Given the description of an element on the screen output the (x, y) to click on. 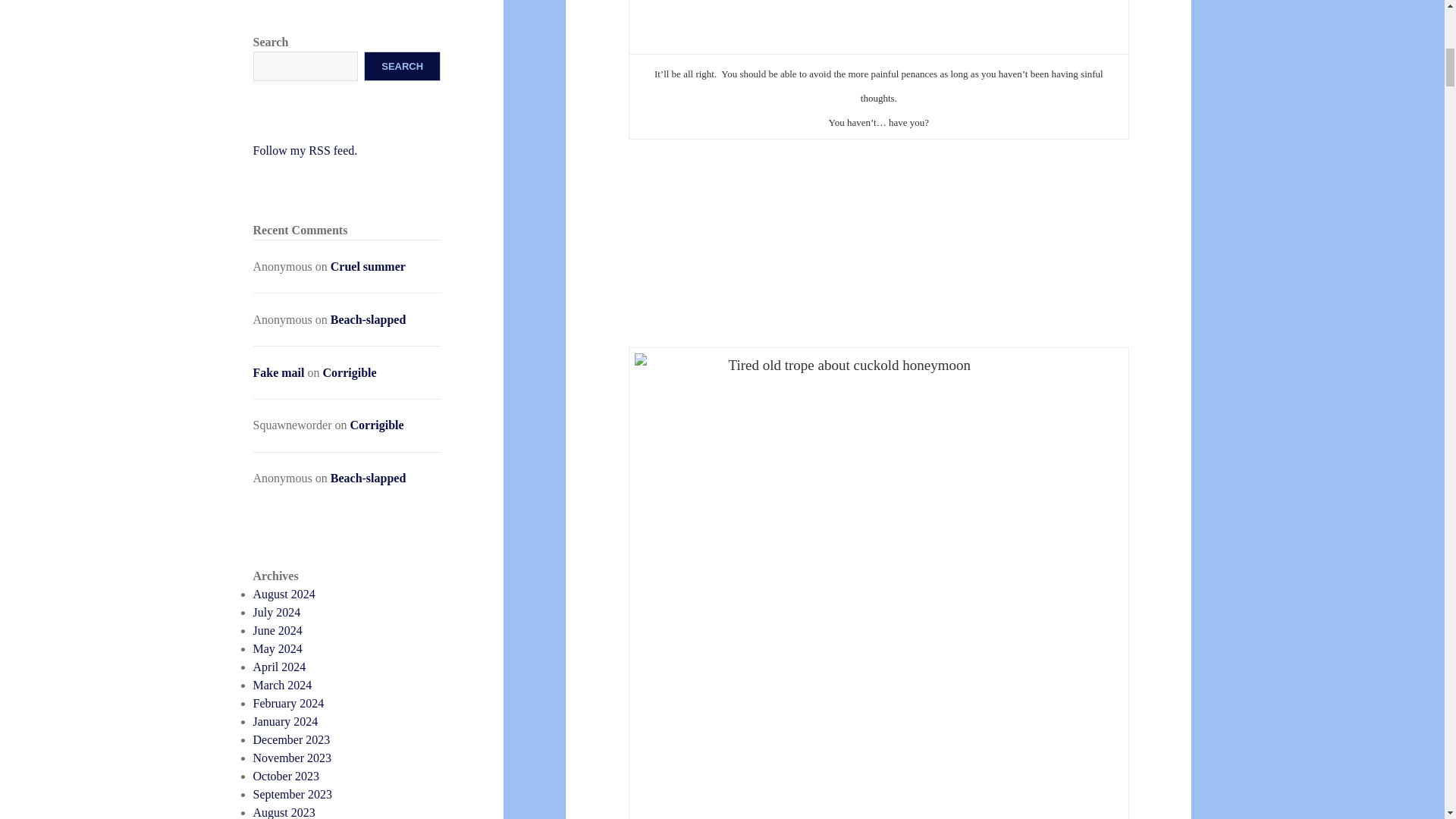
August 2023 (284, 812)
August 2024 (284, 594)
March 2024 (283, 684)
Follow my RSS feed. (305, 150)
Cruel summer (368, 266)
June 2024 (277, 630)
February 2024 (288, 703)
September 2023 (292, 793)
Beach-slapped (368, 318)
January 2024 (285, 721)
